Given the description of an element on the screen output the (x, y) to click on. 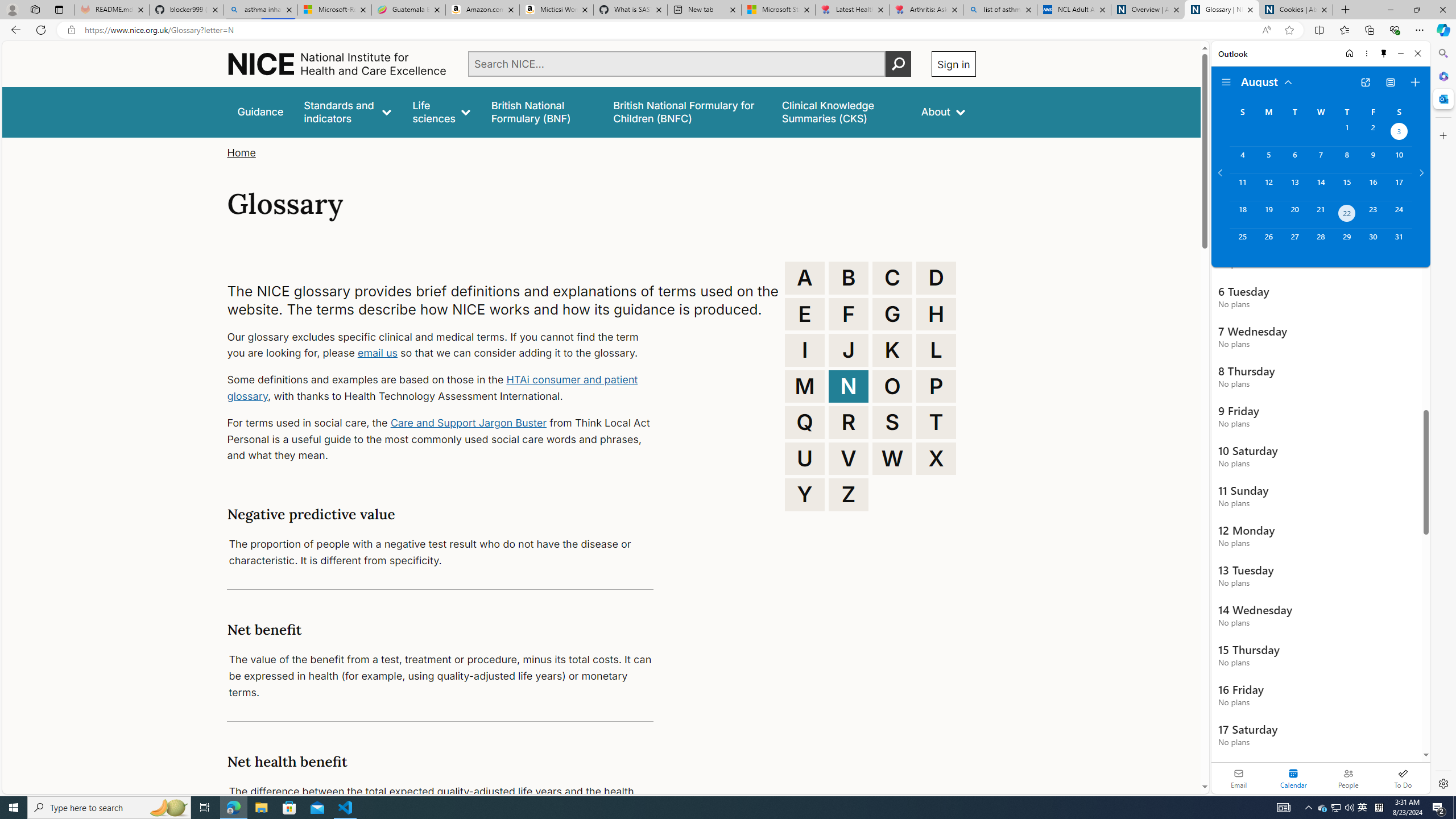
Y (804, 494)
Perform search (898, 63)
F (848, 313)
Saturday, August 3, 2024. Date selected.  (1399, 132)
E (804, 313)
Saturday, August 17, 2024.  (1399, 186)
Wednesday, August 21, 2024.  (1320, 214)
Refresh (40, 29)
Sunday, August 25, 2024.  (1242, 241)
P (935, 385)
email us (376, 353)
A (804, 277)
